Given the description of an element on the screen output the (x, y) to click on. 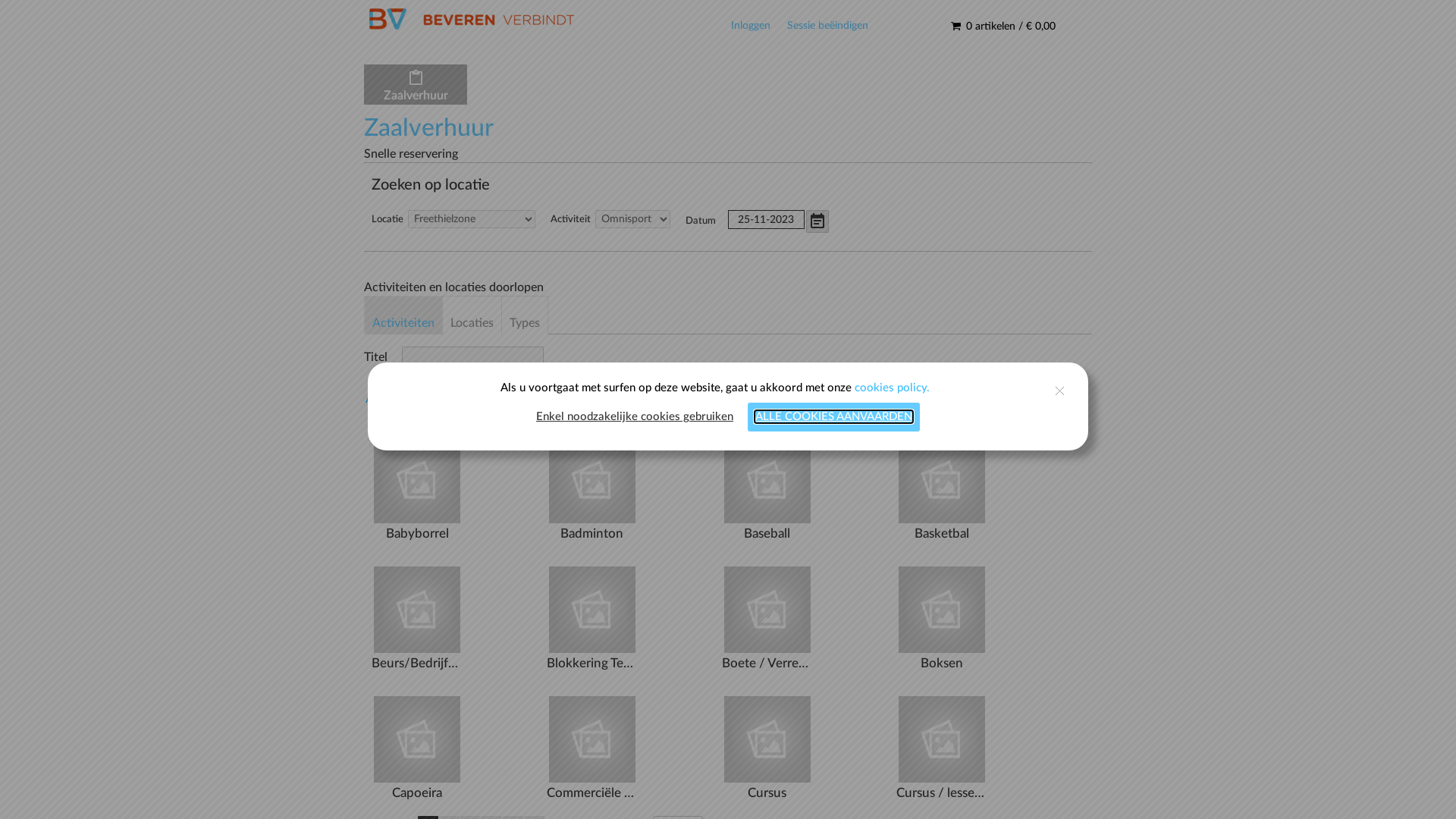
Z Element type: text (1045, 399)
Zoeken Element type: text (886, 224)
Capoeira Element type: hover (416, 738)
A-Z Element type: text (375, 399)
A Element type: text (400, 399)
I Element type: text (607, 399)
Y Element type: text (1019, 399)
J Element type: text (632, 399)
F Element type: text (529, 399)
Locaties Element type: text (472, 314)
C Element type: text (452, 399)
P Element type: text (787, 399)
Blokkering Tentoonstelling Element type: hover (591, 609)
Boksen Element type: hover (941, 609)
H Element type: text (581, 399)
Badminton Element type: hover (591, 479)
Leeg maken Element type: text (689, 360)
G Element type: text (555, 399)
Activiteiten Element type: text (403, 315)
Beurs/Bedrijfsseminarie Element type: hover (416, 609)
Open the calendar popup. Element type: text (816, 221)
U Element type: text (916, 399)
Cursus / lessenreeks commercieel Element type: hover (941, 738)
Cursus Element type: hover (766, 738)
cookies policy. Element type: text (891, 387)
Inloggen Element type: text (750, 25)
Zaalverhuur Element type: text (415, 98)
Enkel noodzakelijke cookies gebruiken Element type: text (634, 416)
Commerci&#235;le activiteiten met winstoogmerk Element type: hover (591, 738)
K Element type: text (658, 399)
X Element type: text (993, 399)
Zoeken Element type: text (612, 360)
Basketbal Element type: hover (941, 479)
ALLE COOKIES AANVAARDEN Element type: text (833, 416)
B Element type: text (426, 399)
S Element type: text (864, 399)
N Element type: text (735, 399)
Babyborrel Element type: hover (416, 479)
T Element type: text (890, 399)
Baseball Element type: hover (766, 479)
E Element type: text (503, 399)
Q Element type: text (813, 399)
O Element type: text (761, 399)
Types Element type: text (524, 314)
M Element type: text (710, 399)
L Element type: text (684, 399)
Boete / Verrebroek  Element type: hover (766, 609)
Datum Element type: text (704, 220)
D Element type: text (478, 399)
R Element type: text (839, 399)
V Element type: text (942, 399)
W Element type: text (968, 399)
